Given the description of an element on the screen output the (x, y) to click on. 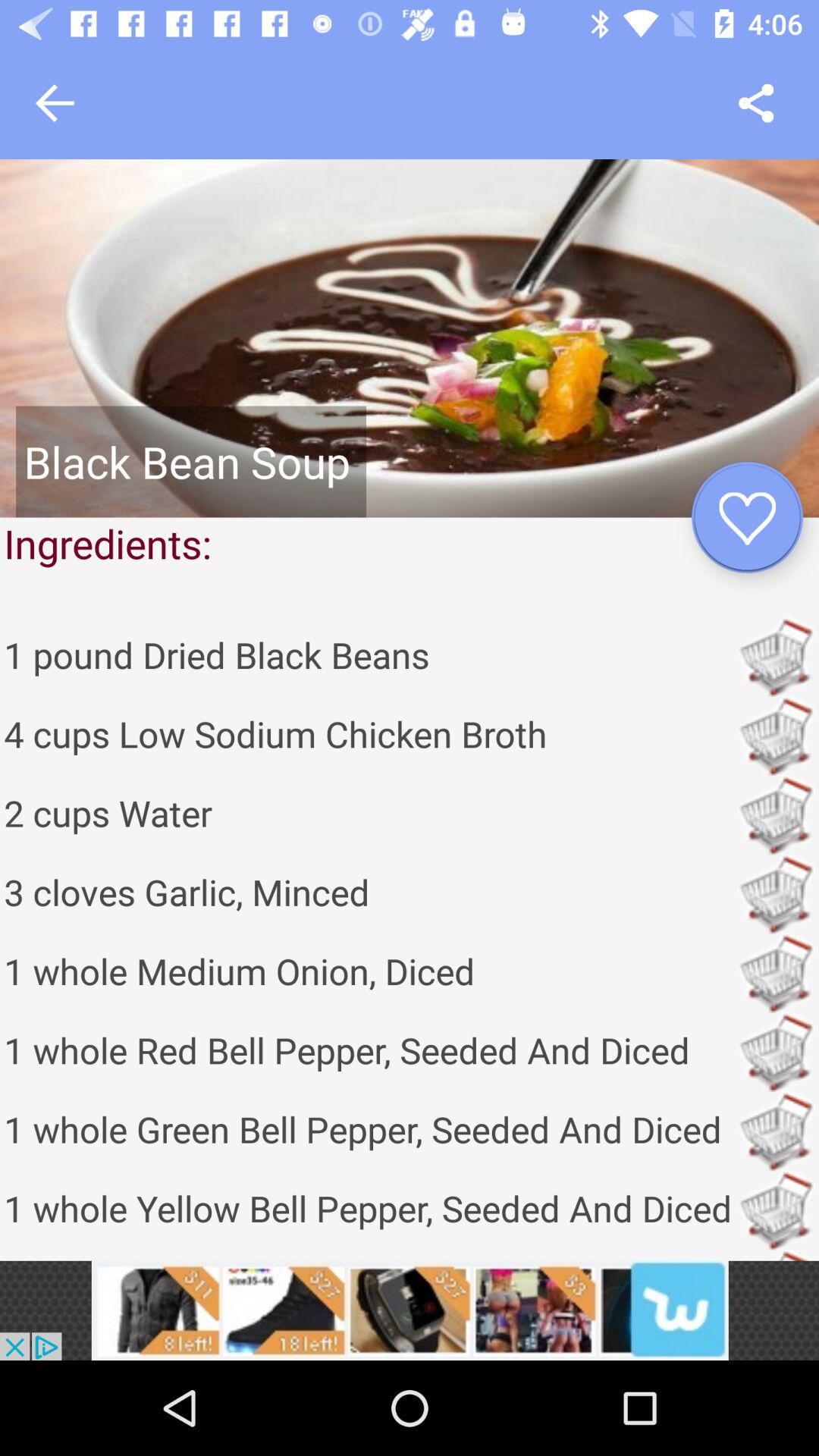
go back (54, 103)
